Given the description of an element on the screen output the (x, y) to click on. 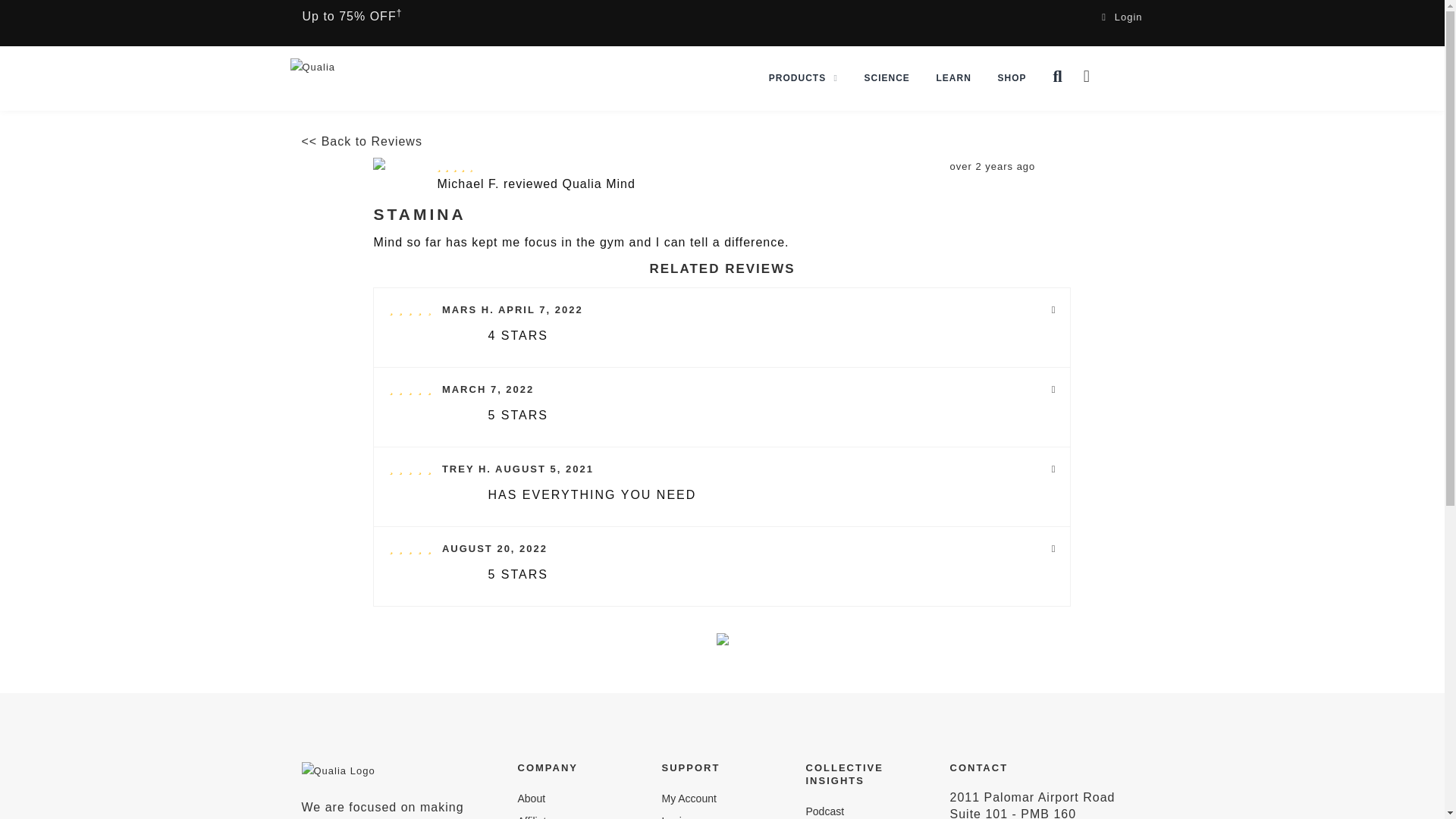
SCIENCE (887, 77)
Login (1121, 16)
PRODUCTS (802, 77)
LEARN (953, 77)
